Given the description of an element on the screen output the (x, y) to click on. 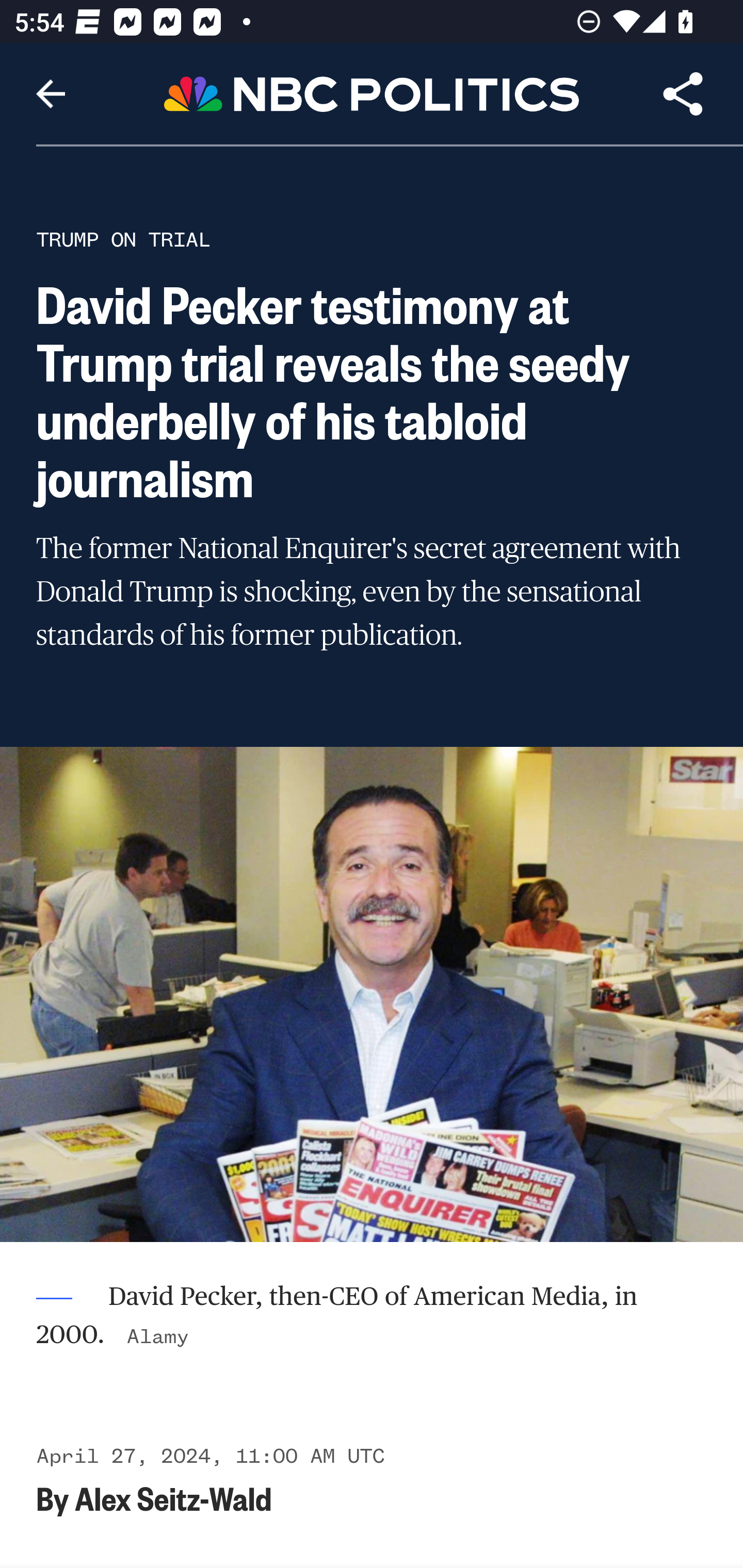
Navigate up (50, 93)
Share Article, button (683, 94)
Header, NBC Politics (371, 93)
